Given the description of an element on the screen output the (x, y) to click on. 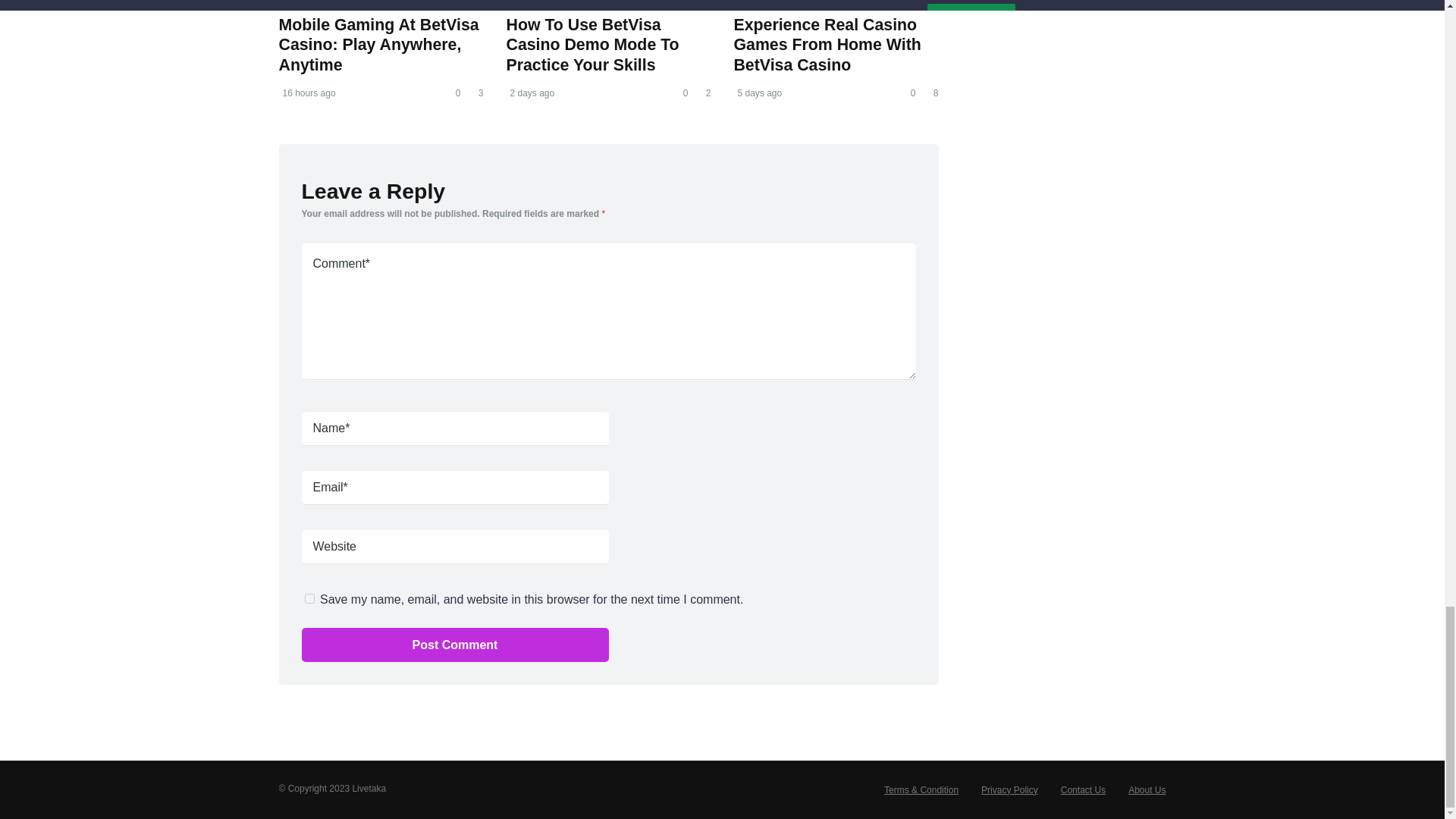
Mobile Gaming At BetVisa Casino: Play Anywhere, Anytime (379, 44)
How To Use BetVisa Casino Demo Mode To Practice Your Skills (591, 44)
Experience Real Casino Games From Home With BetVisa Casino (826, 44)
yes (309, 598)
Post Comment (454, 643)
